Given the description of an element on the screen output the (x, y) to click on. 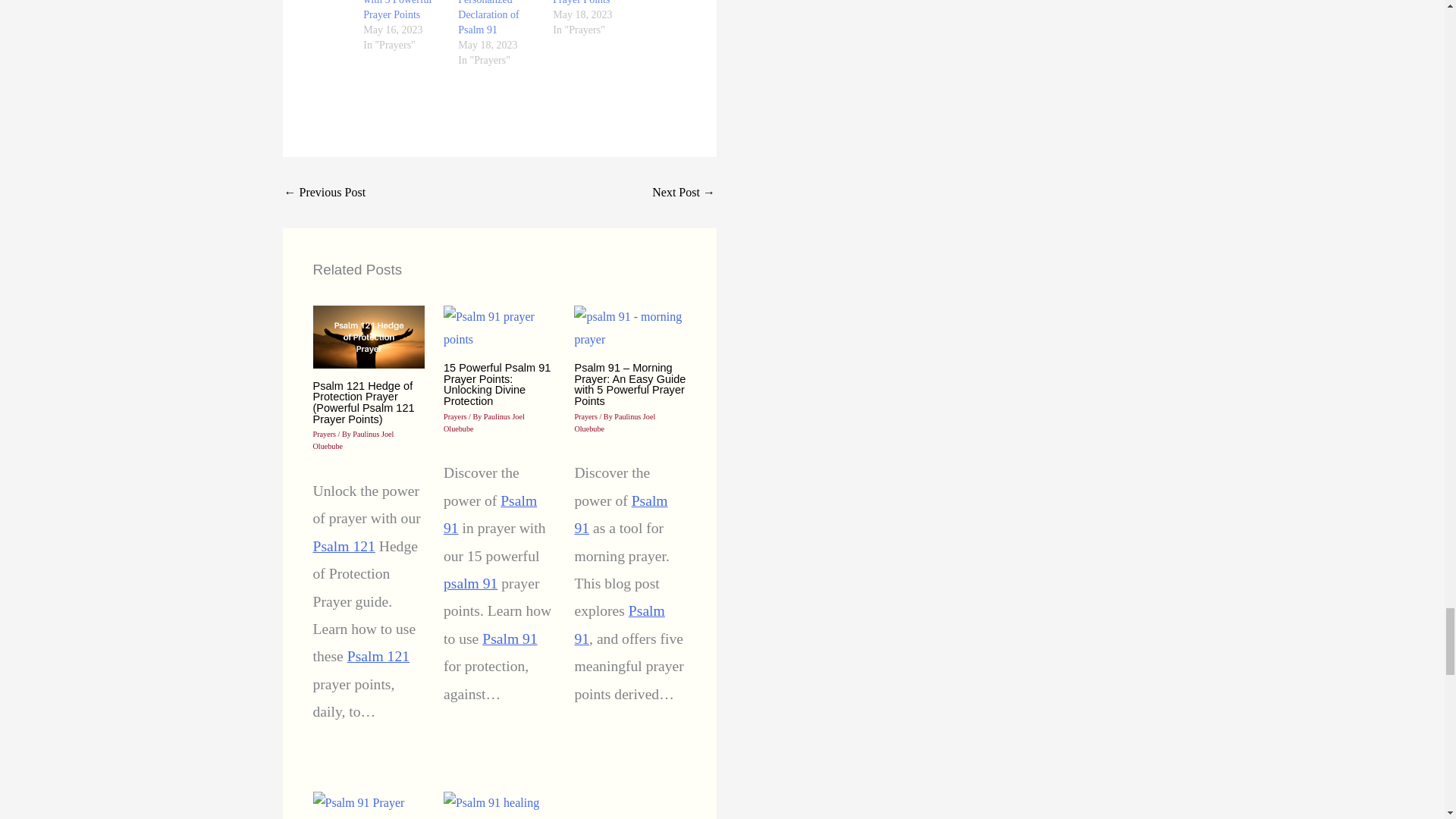
Walking With God: Know the 7'Cs of How to Walk with God (324, 192)
Powerful Psalm 91 healing prayer Guide with 5 Prayer Points (590, 2)
